Given the description of an element on the screen output the (x, y) to click on. 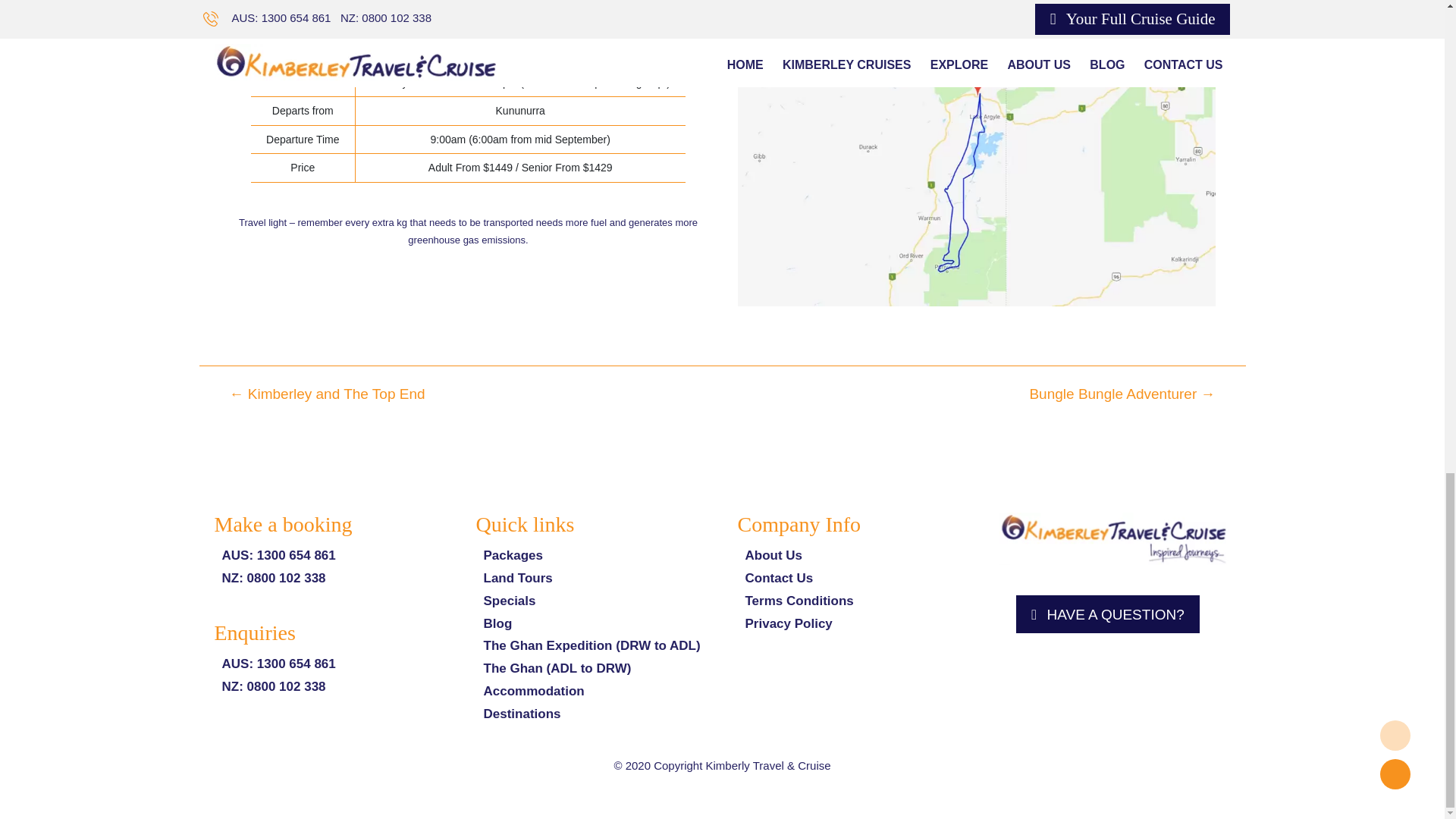
1300 654 861 (296, 554)
aviair-bungle-bungle-adventurer-map (975, 171)
1300 654 861 (296, 663)
0800 102 338 (286, 577)
logo (1114, 538)
0800 102 338 (286, 686)
